Given the description of an element on the screen output the (x, y) to click on. 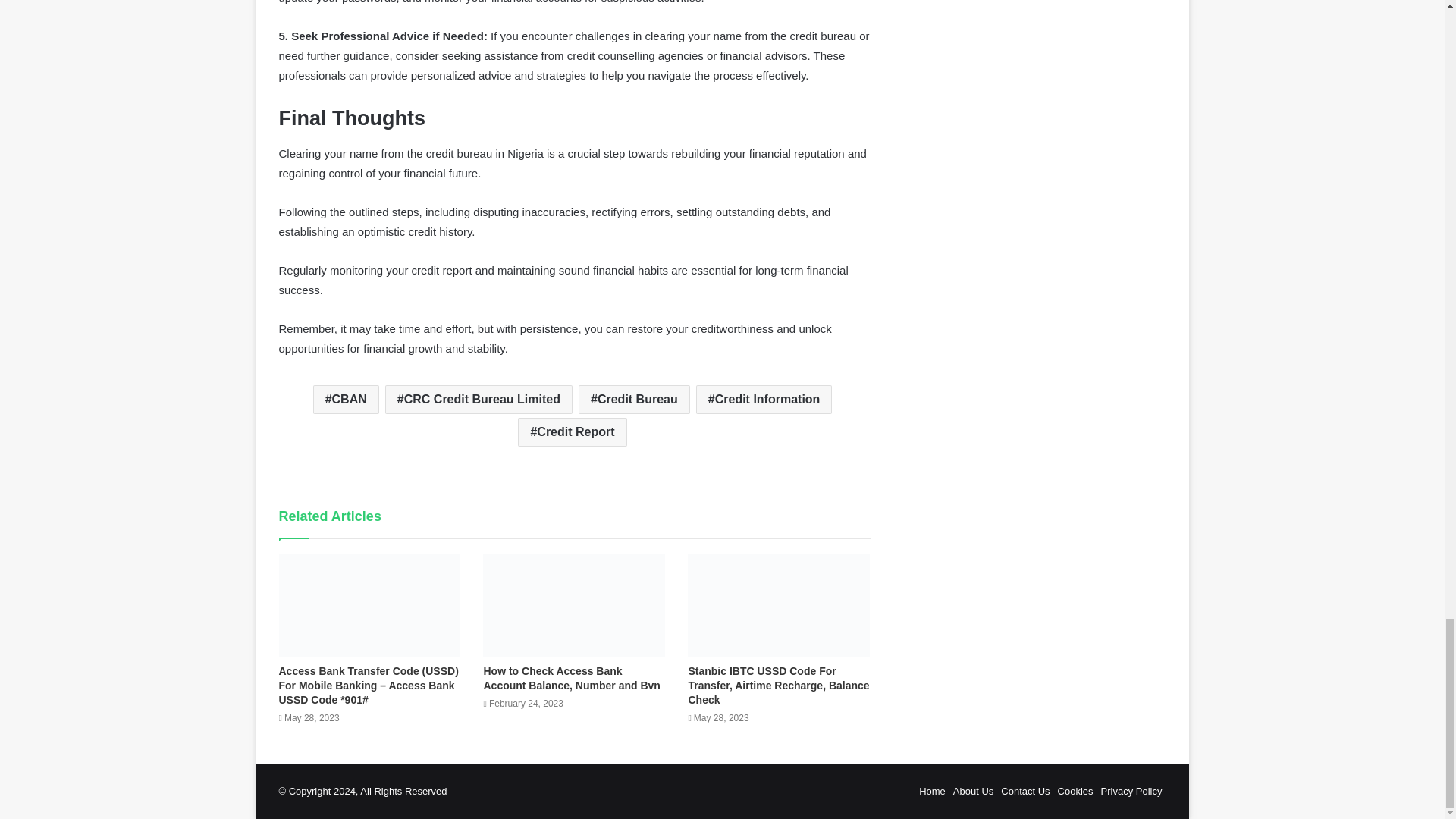
CRC Credit Bureau Limited (478, 399)
CBAN (345, 399)
How to Check Access Bank Account Balance, Number and Bvn 2 (574, 605)
